Given the description of an element on the screen output the (x, y) to click on. 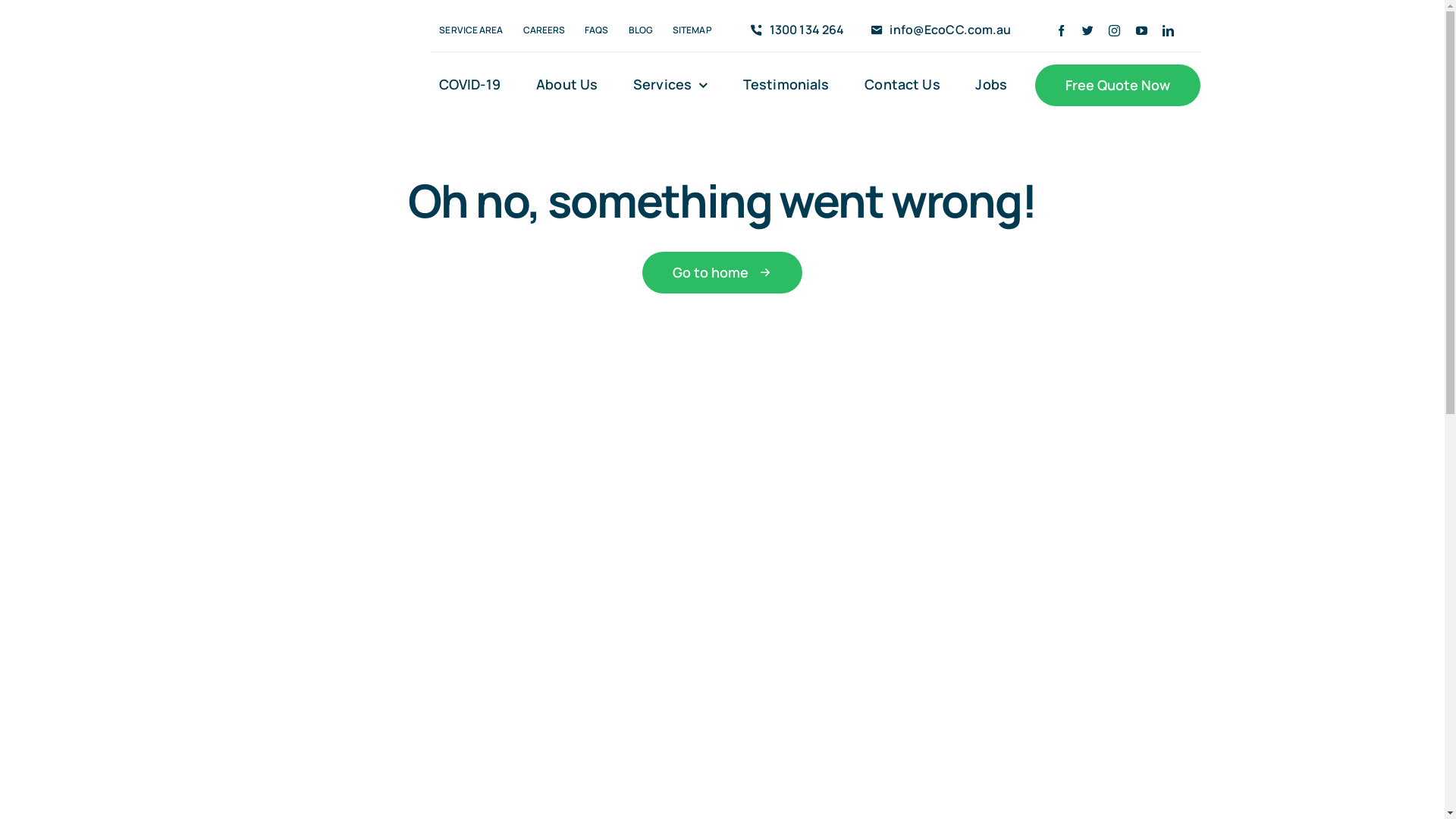
Jobs Element type: text (990, 85)
COVID-19 Element type: text (469, 85)
Contact Us Element type: text (901, 85)
CAREERS Element type: text (544, 30)
1300 134 264 Element type: text (794, 30)
About Us Element type: text (566, 85)
SERVICE AREA Element type: text (470, 30)
Services Element type: text (670, 85)
LinkedIn Element type: hover (1167, 30)
Facebook Element type: hover (1060, 30)
Twitter Element type: hover (1087, 30)
YouTube Element type: hover (1141, 30)
SITEMAP Element type: text (692, 30)
Free Quote Now Element type: text (1117, 85)
Instagram Element type: hover (1114, 30)
FAQS Element type: text (596, 30)
Testimonials Element type: text (786, 85)
info@EcoCC.com.au Element type: text (937, 30)
Go to home Element type: text (722, 272)
BLOG Element type: text (640, 30)
